Given the description of an element on the screen output the (x, y) to click on. 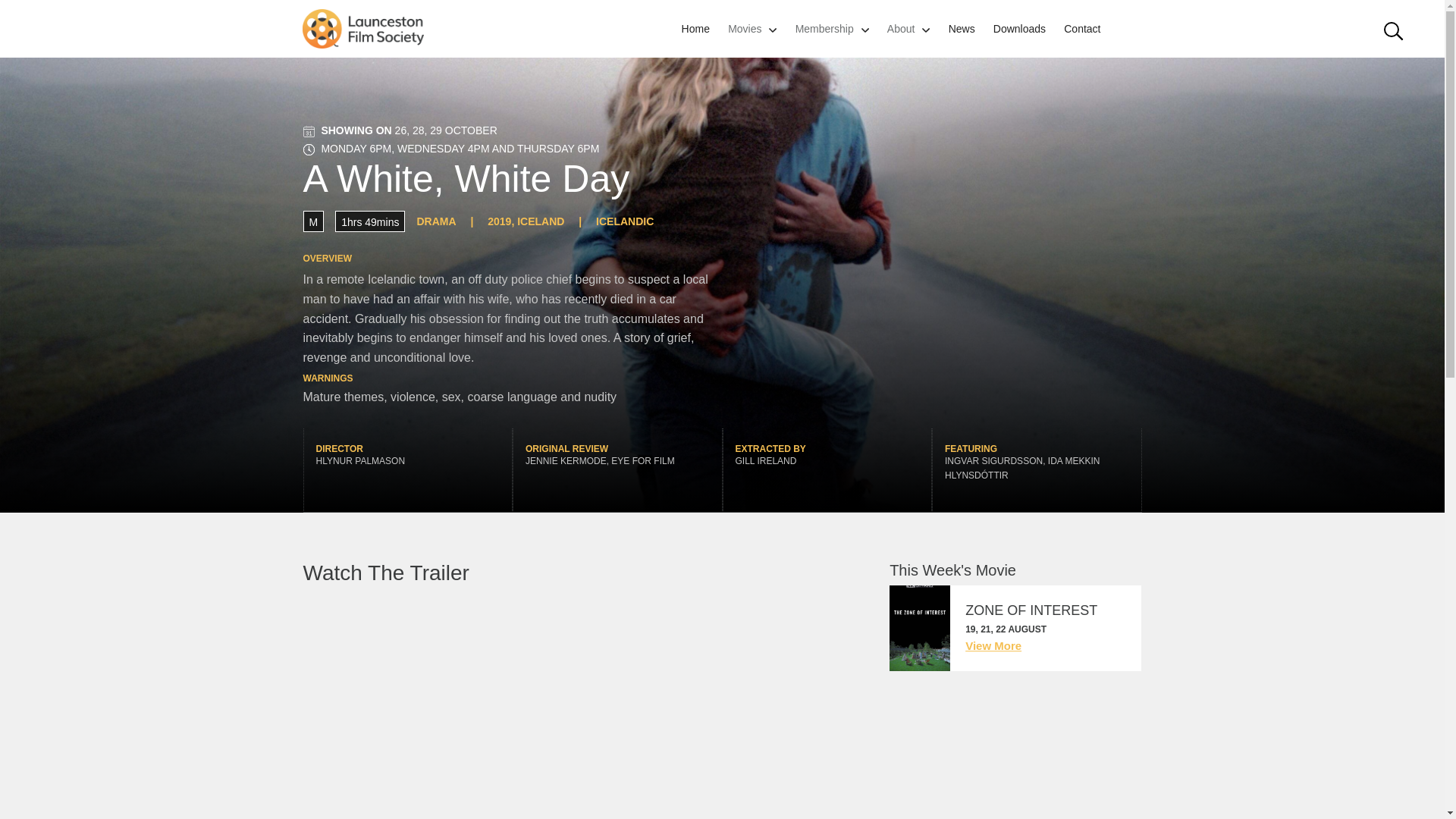
Downloads (1018, 28)
About (900, 28)
About (900, 28)
Membership (823, 28)
Contact (1082, 28)
Contact (1082, 28)
Membership (823, 28)
Movies (744, 28)
Downloads (1018, 28)
News (962, 28)
